Given the description of an element on the screen output the (x, y) to click on. 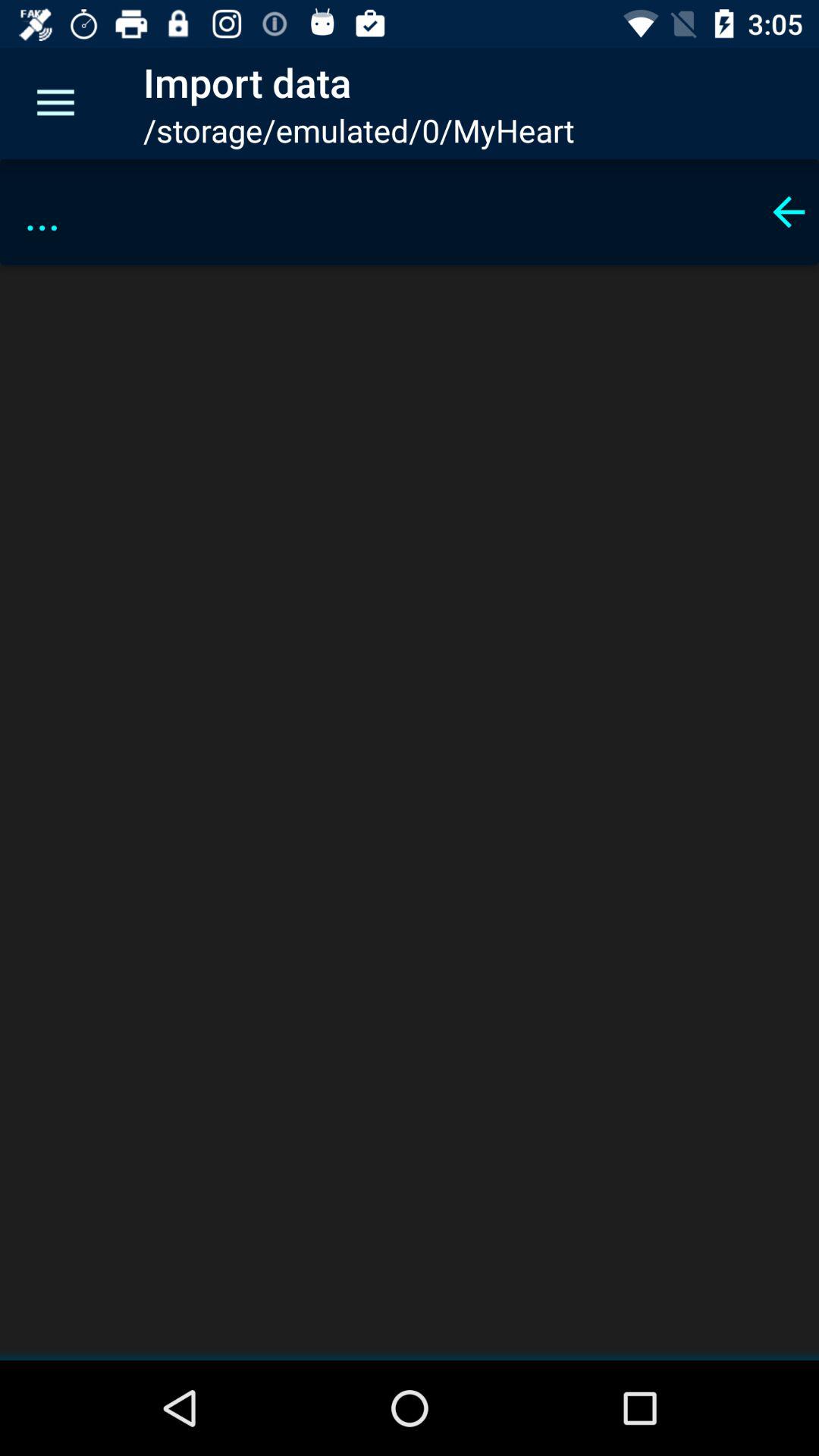
turn off the item next to the ... (788, 212)
